Given the description of an element on the screen output the (x, y) to click on. 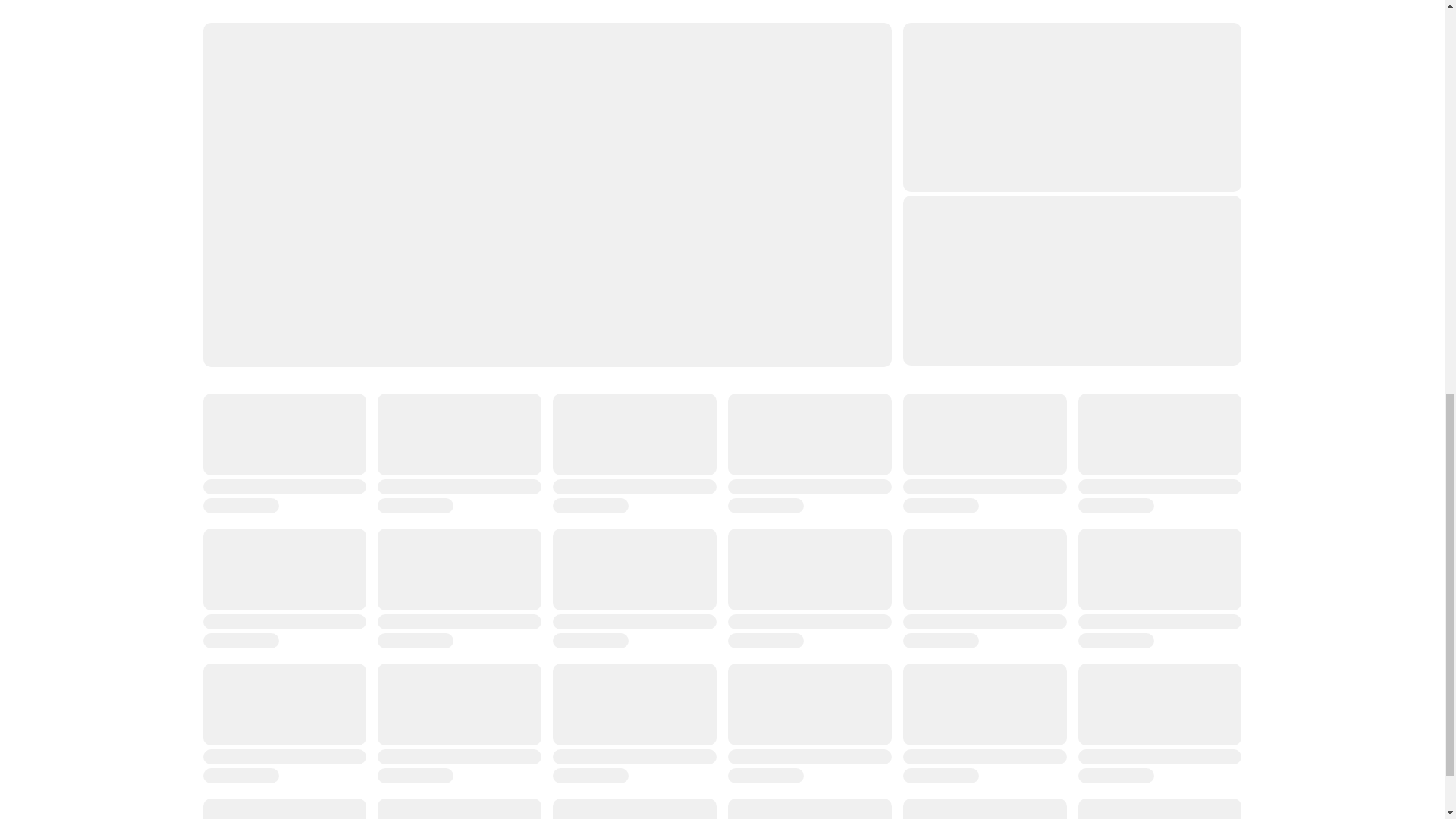
Home (217, 435)
Reviews Guidlines (512, 504)
Career (220, 550)
Contact Us (493, 458)
Payment Methods (773, 435)
Sitemap (223, 573)
Community Guidelines (522, 527)
FAQs (480, 435)
Terms Of Service (771, 573)
Privacy Policy (762, 527)
